Given the description of an element on the screen output the (x, y) to click on. 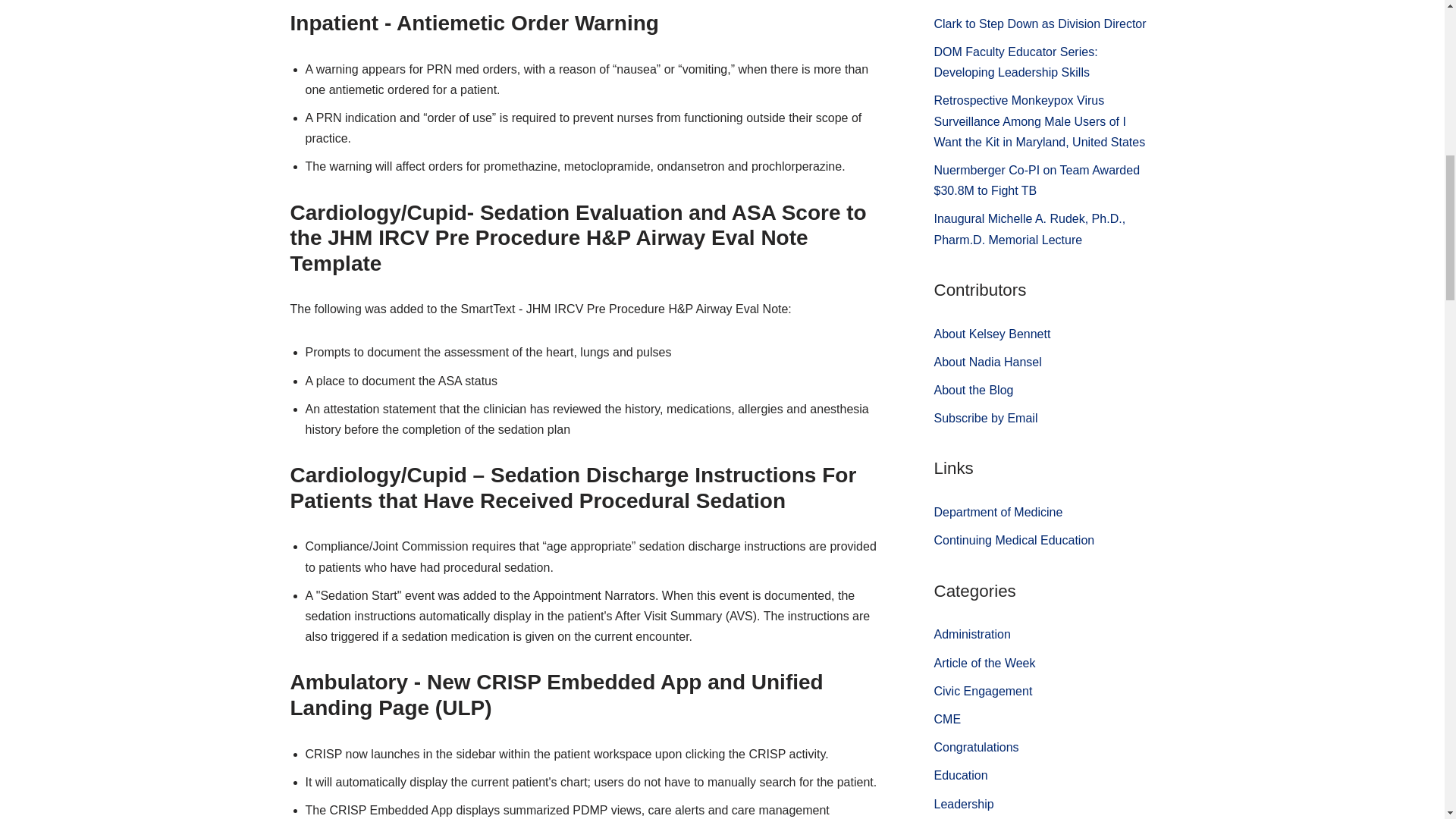
Continuing Medical Education (1014, 540)
Clark to Step Down as Division Director (1040, 23)
DOM Faculty Educator Series: Developing Leadership Skills (1015, 61)
Subscribe by Email (986, 418)
About Kelsey Bennett (992, 333)
Administration (972, 634)
About Nadia Hansel (988, 361)
Department of Medicine (998, 512)
